Given the description of an element on the screen output the (x, y) to click on. 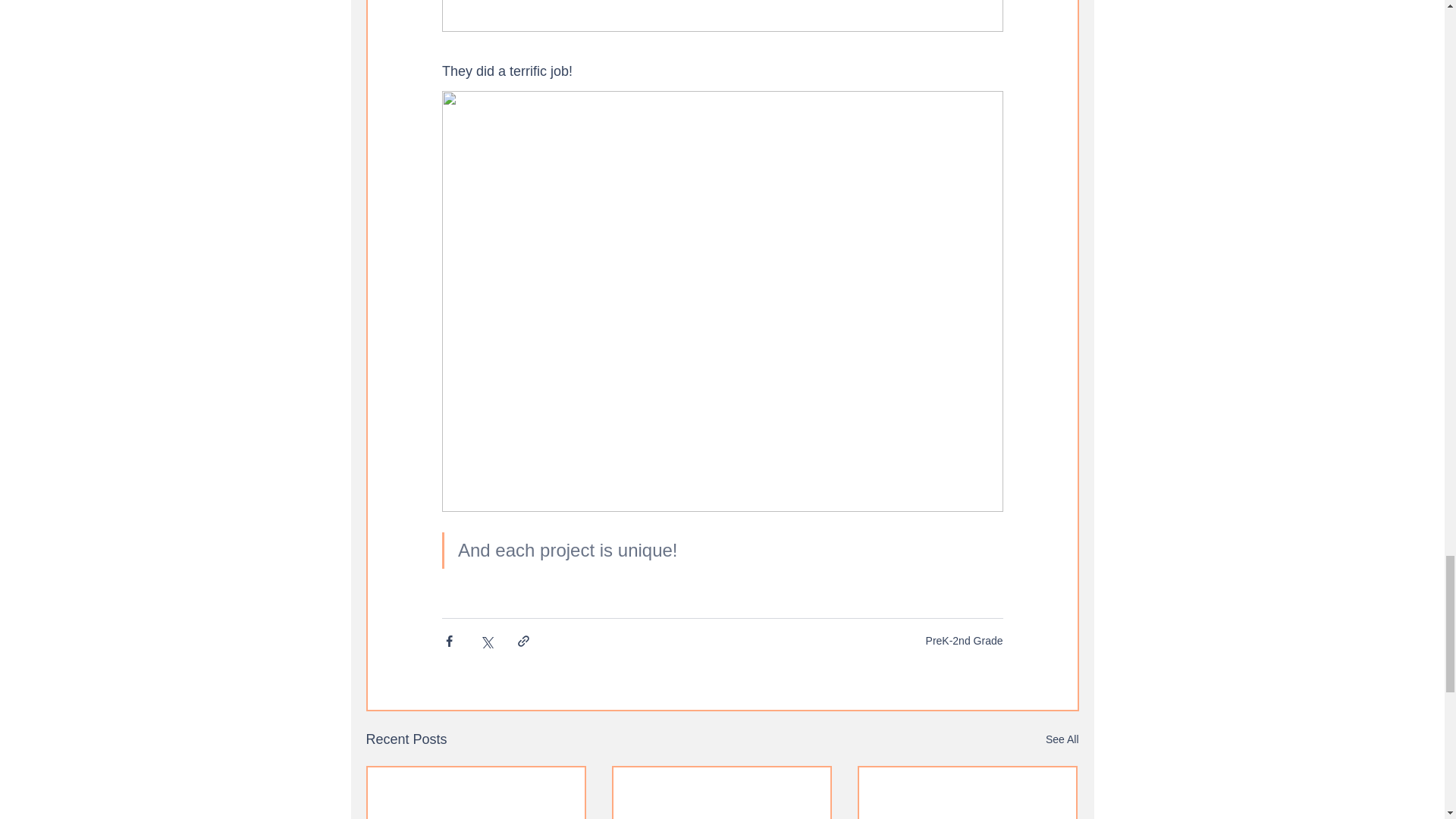
See All (1061, 739)
PreK-2nd Grade (964, 640)
